Given the description of an element on the screen output the (x, y) to click on. 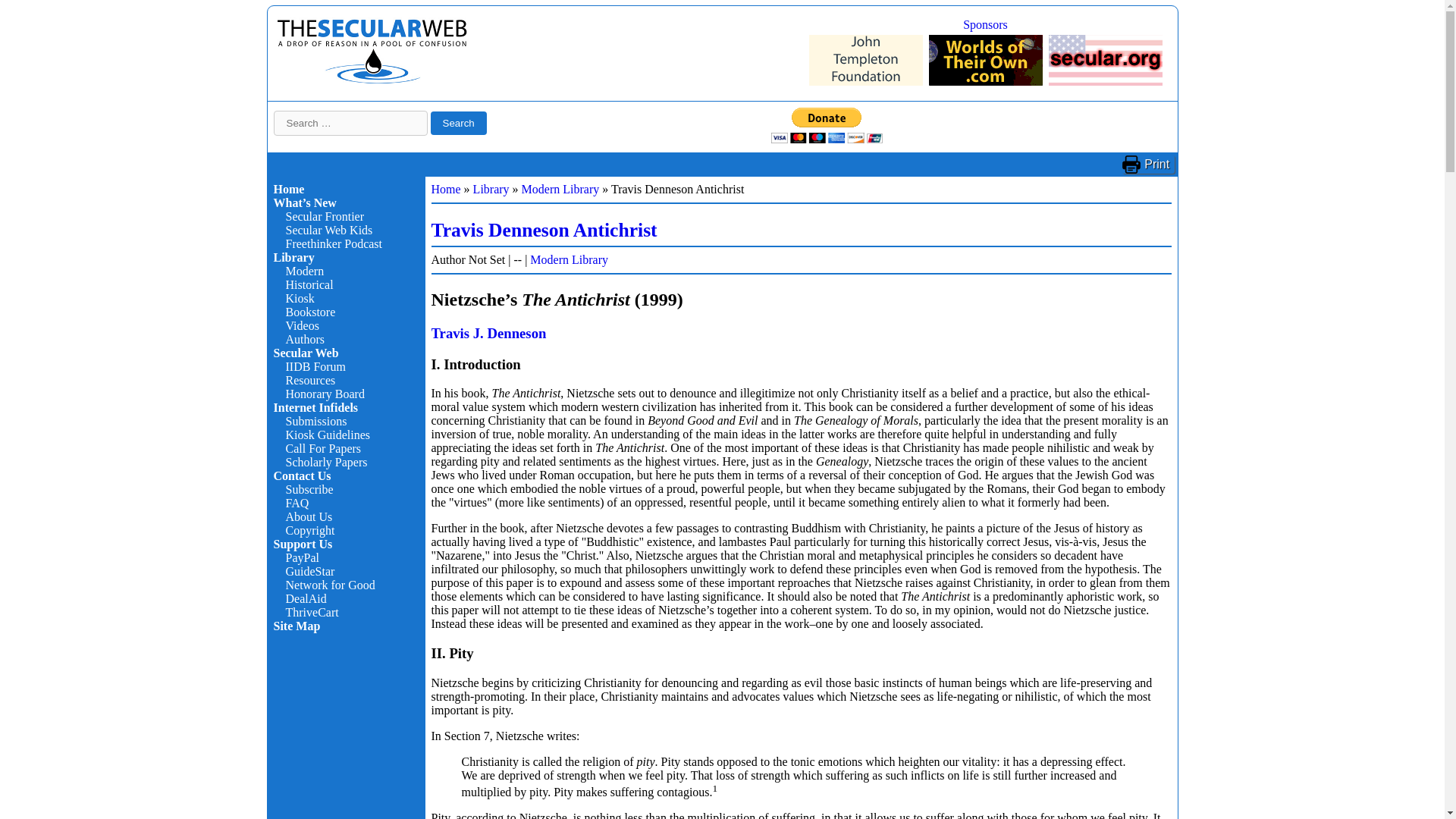
Freethinker Podcast (333, 243)
Resources (309, 379)
Site Map (296, 625)
Sponsors (984, 24)
Search (458, 123)
Videos (301, 325)
Secular Frontier (324, 215)
Home (288, 188)
Travis Denneson Antichrist (543, 229)
Internet Infidels (315, 407)
